Given the description of an element on the screen output the (x, y) to click on. 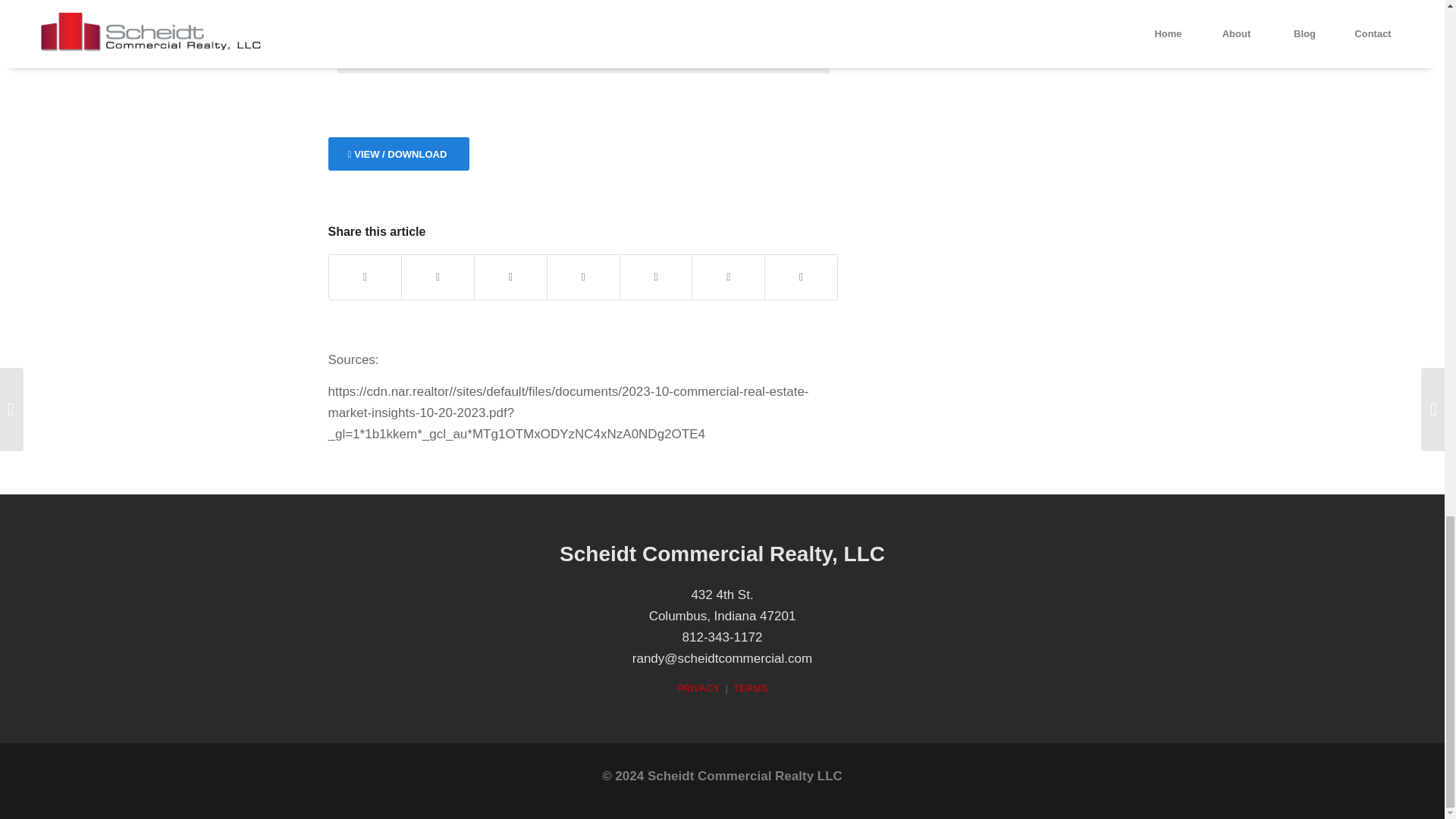
TERMS (750, 687)
PRIVACY (698, 687)
